Given the description of an element on the screen output the (x, y) to click on. 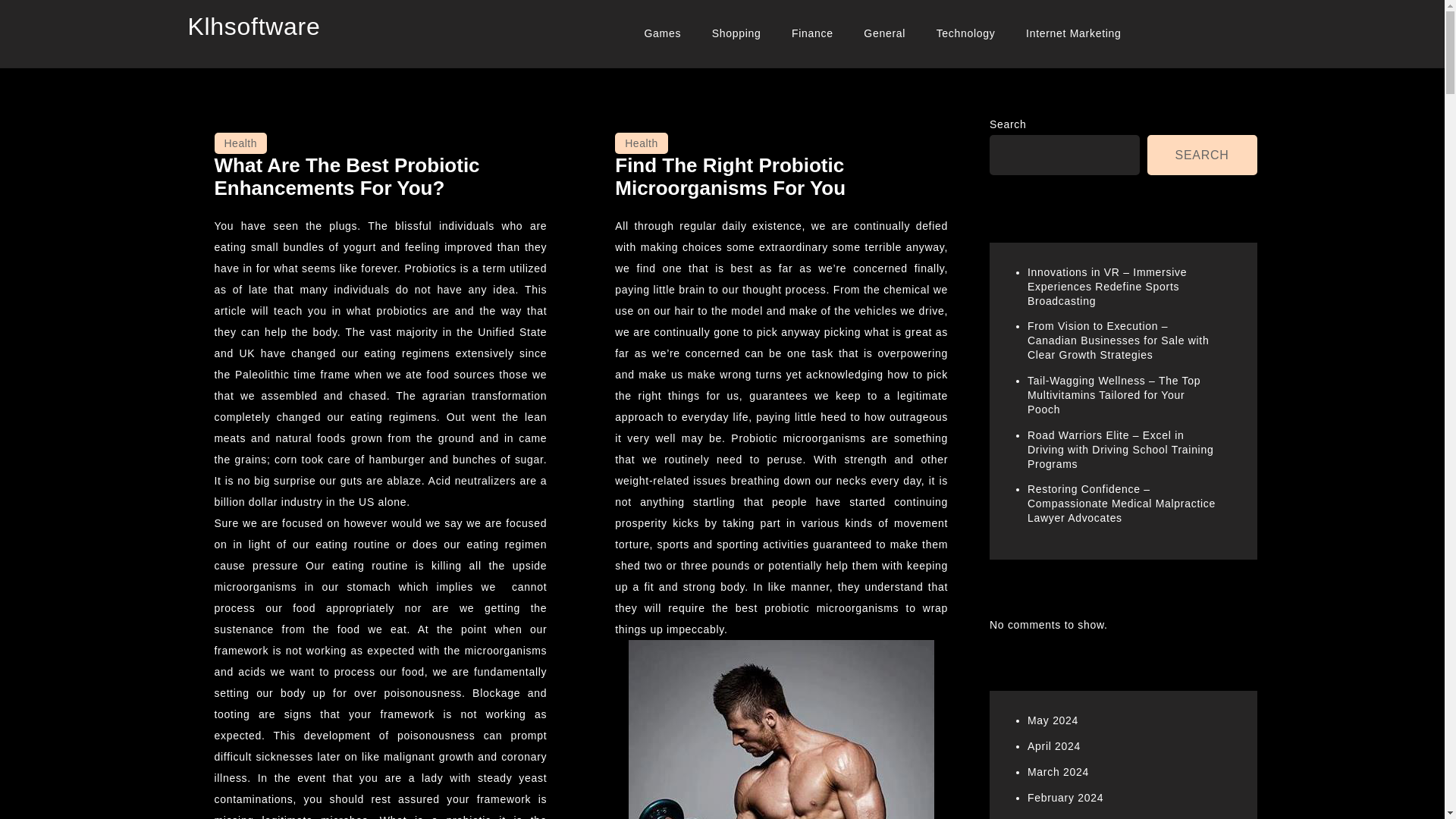
What Are The Best Probiotic Enhancements For You? (346, 176)
Finance (812, 33)
Games (662, 33)
Health (240, 142)
General (884, 33)
Find The Right Probiotic Microorganisms For You (729, 176)
Shopping (736, 33)
Klhsoftware (253, 26)
Internet Marketing (1072, 33)
Technology (966, 33)
Health (640, 142)
